Given the description of an element on the screen output the (x, y) to click on. 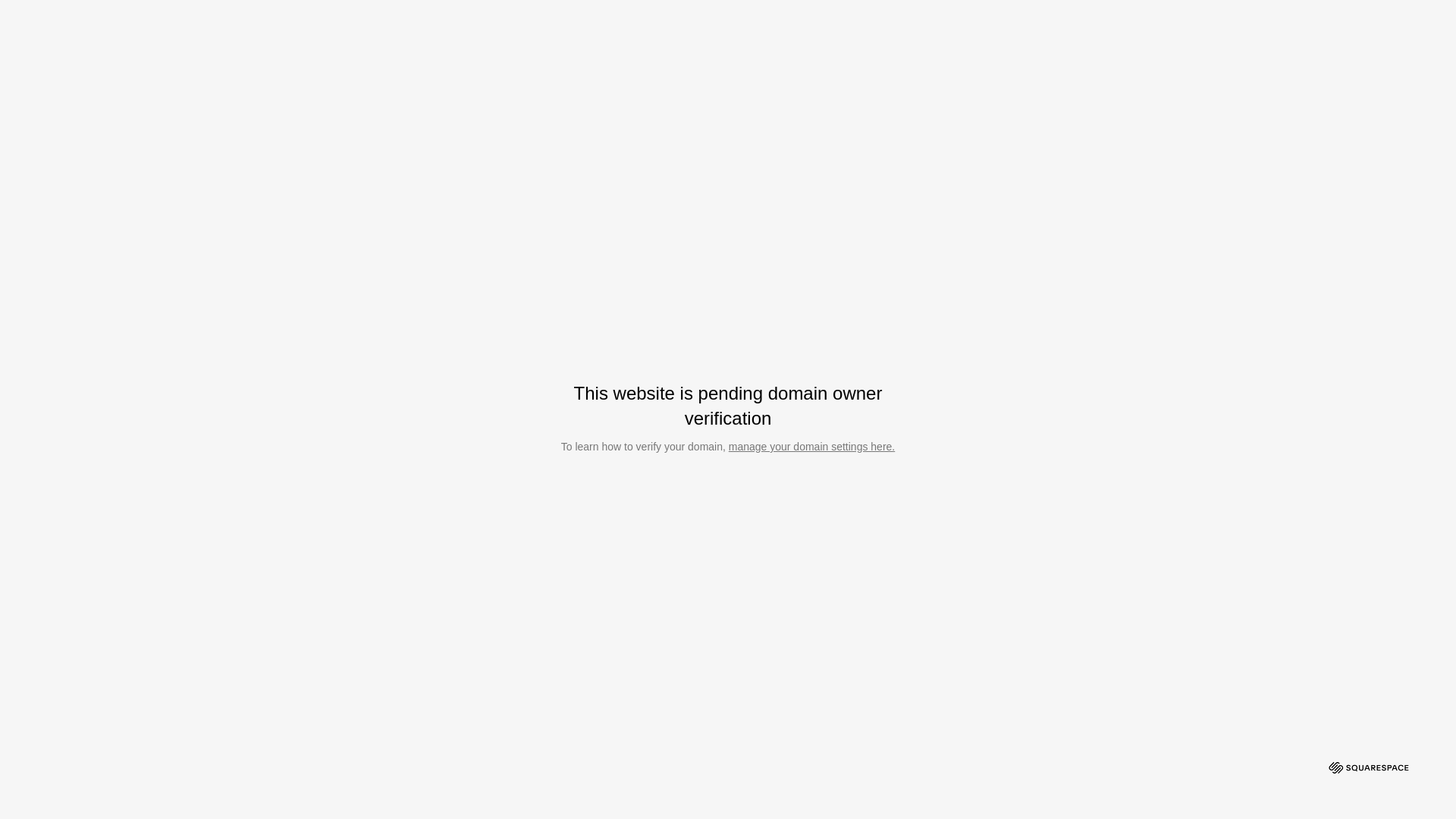
manage your domain settings here. Element type: text (811, 446)
